Given the description of an element on the screen output the (x, y) to click on. 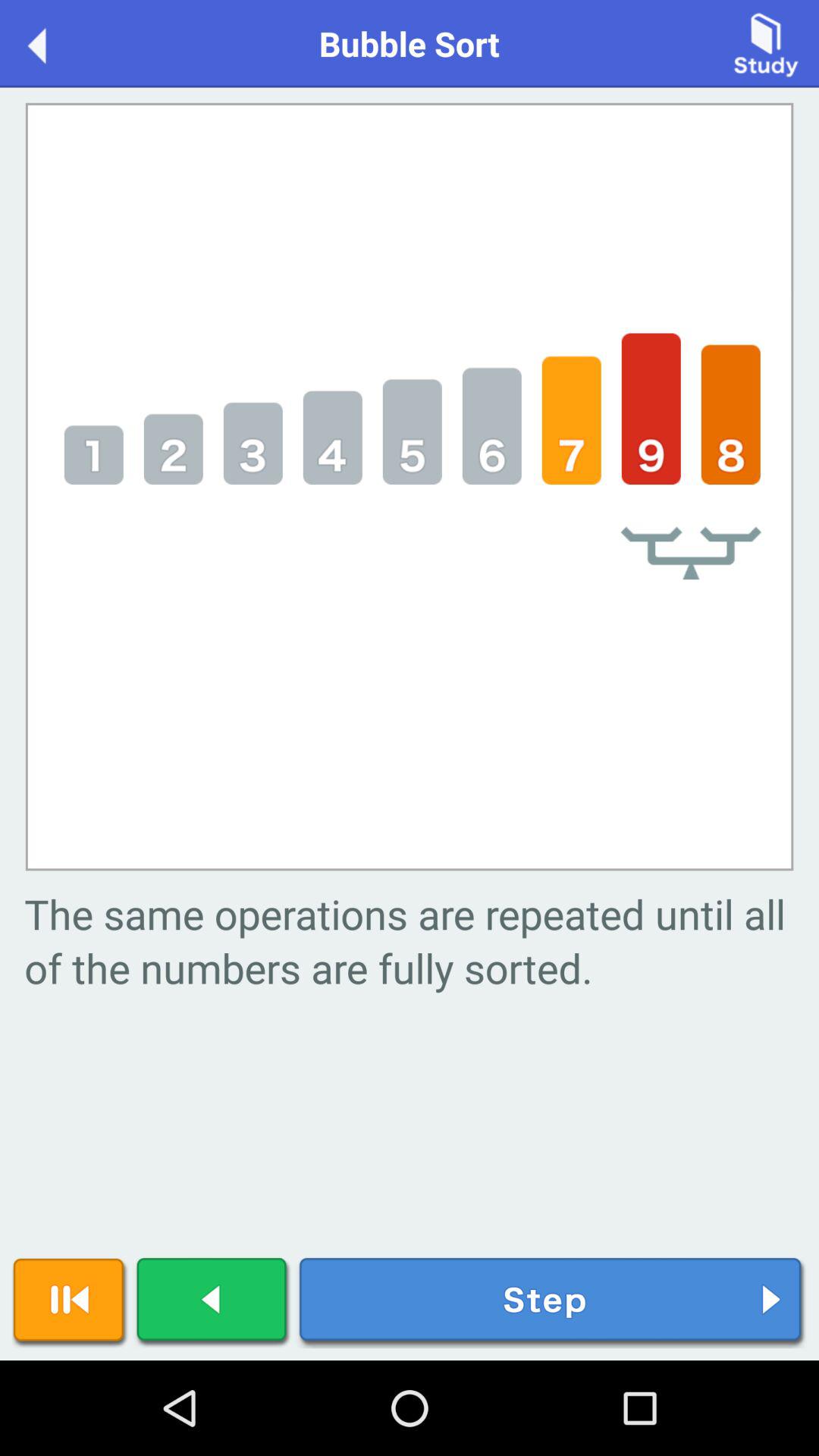
tap to study (766, 42)
